Given the description of an element on the screen output the (x, y) to click on. 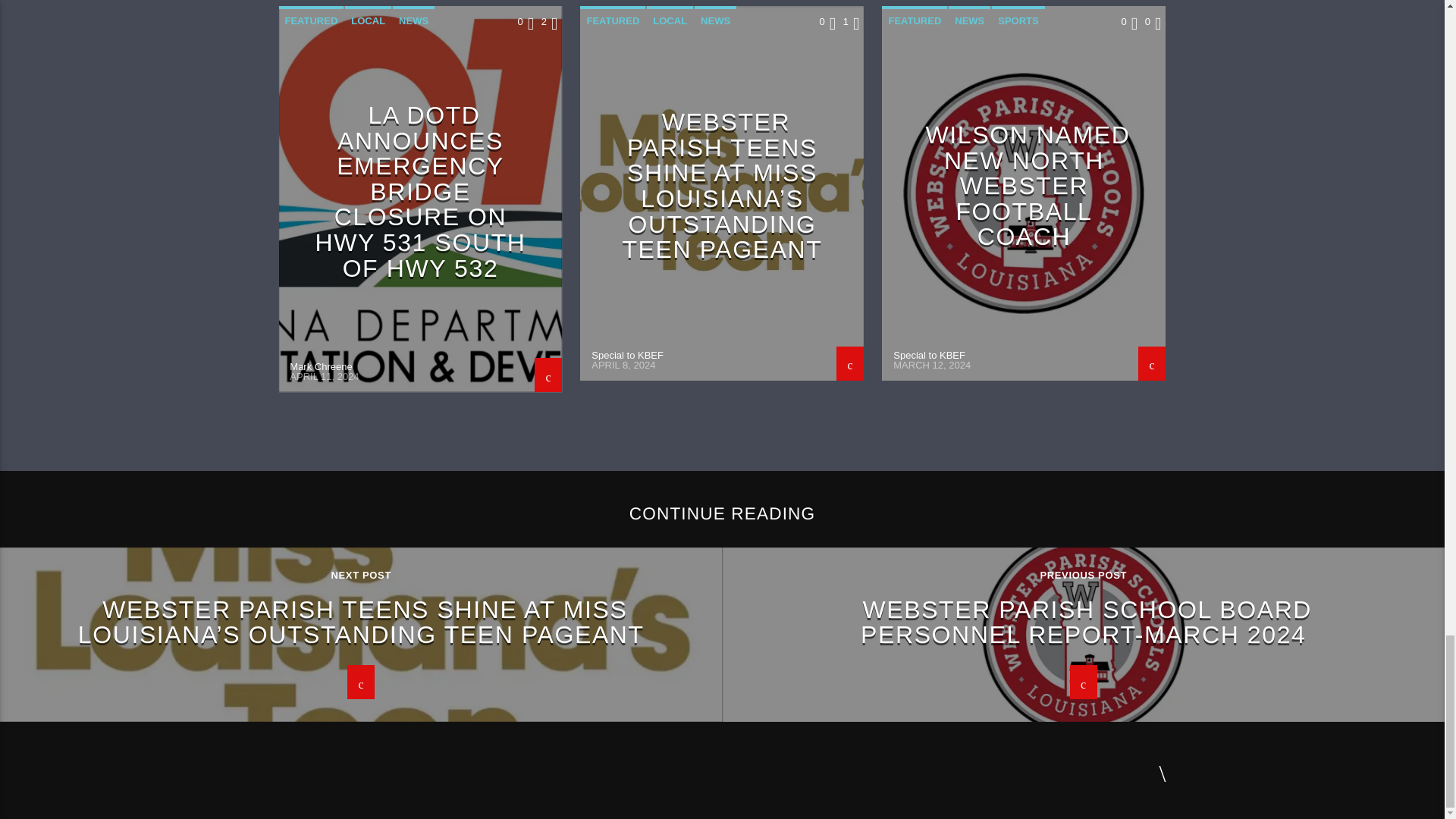
Posts by Special to KBEF (627, 355)
Posts by Special to KBEF (929, 355)
Posts by Mark Chreene (320, 366)
